Given the description of an element on the screen output the (x, y) to click on. 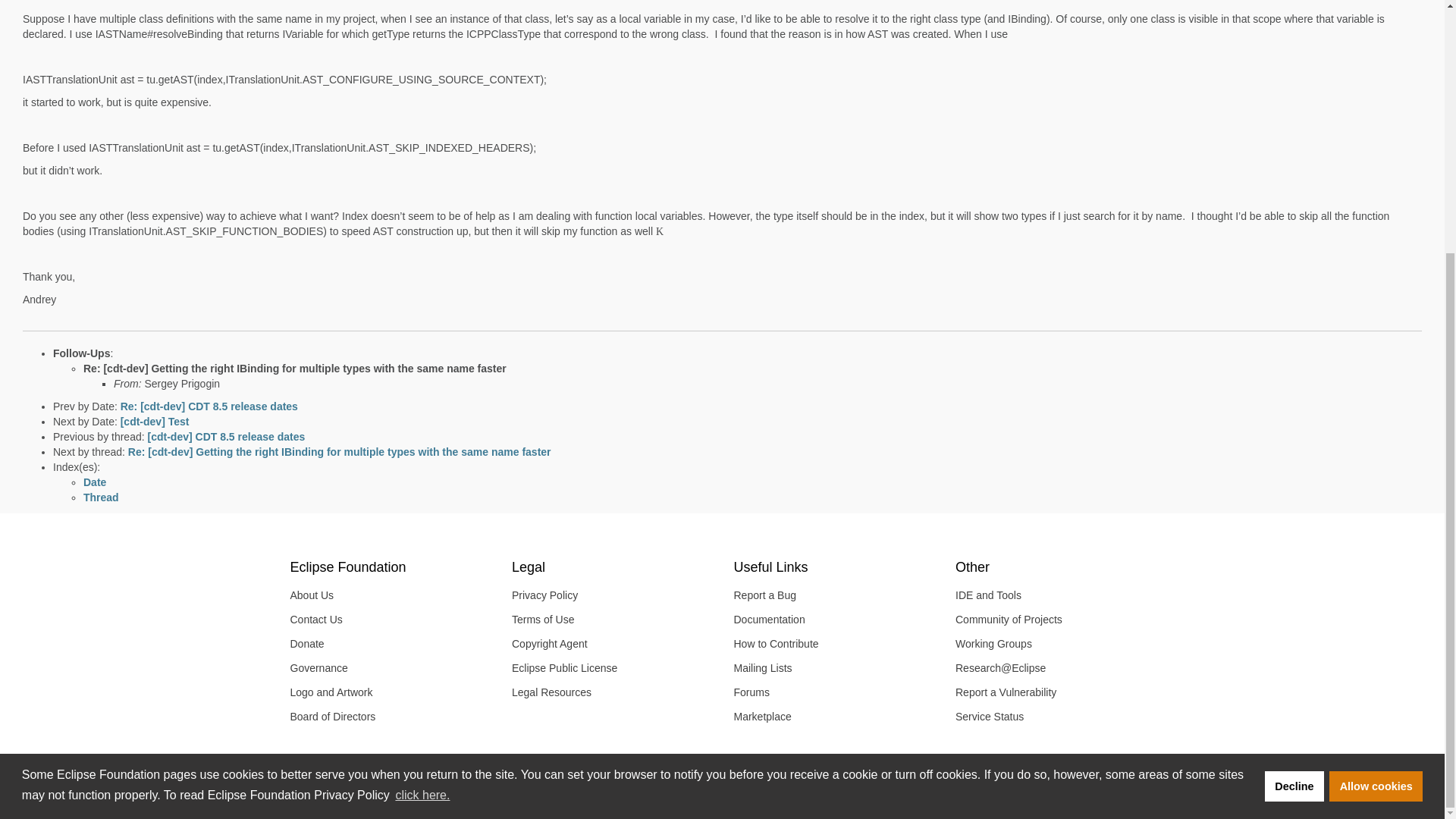
Allow cookies (1375, 428)
Decline (1294, 428)
click here. (422, 436)
